Given the description of an element on the screen output the (x, y) to click on. 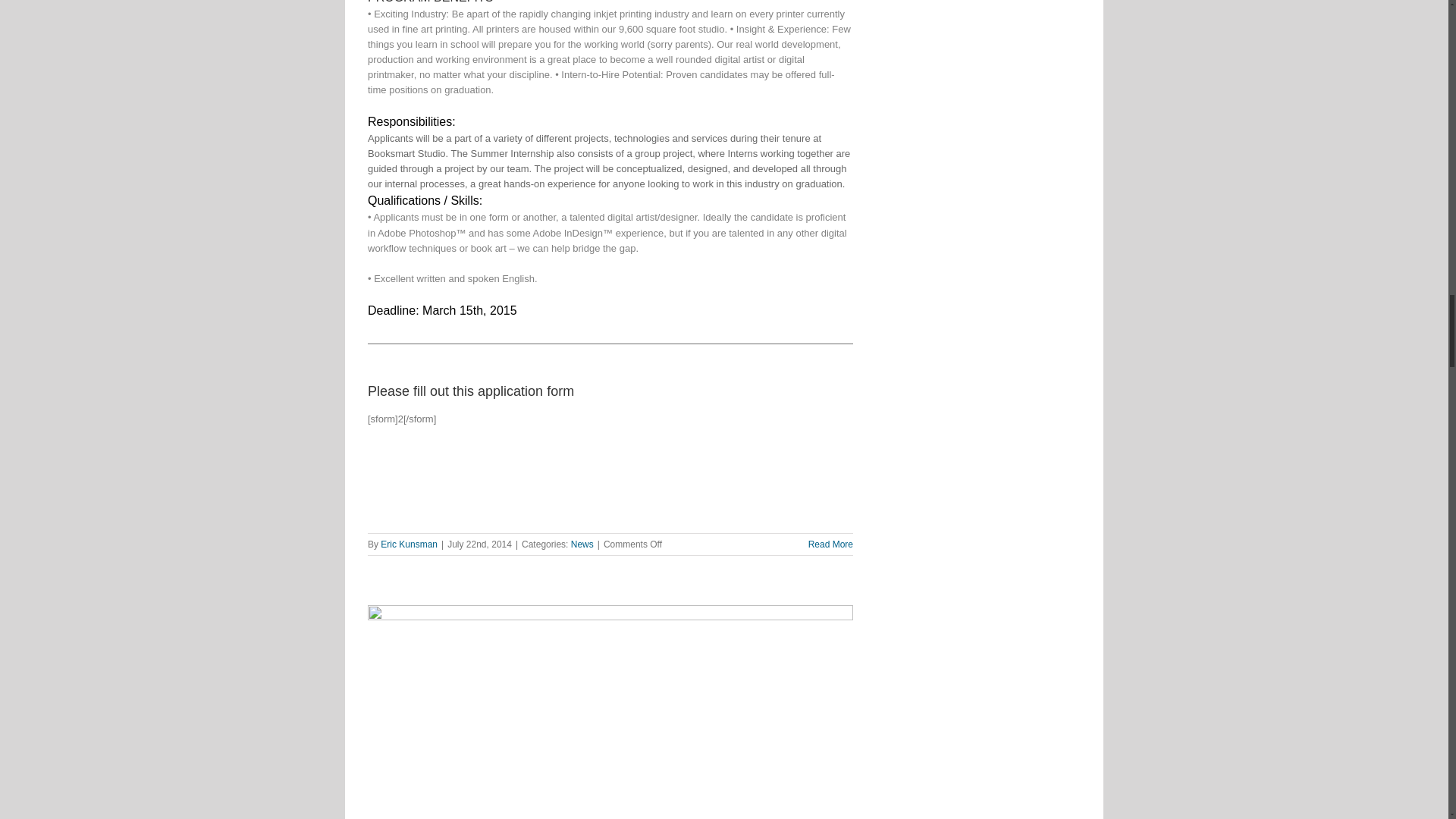
Posts by Eric Kunsman (409, 543)
